Given the description of an element on the screen output the (x, y) to click on. 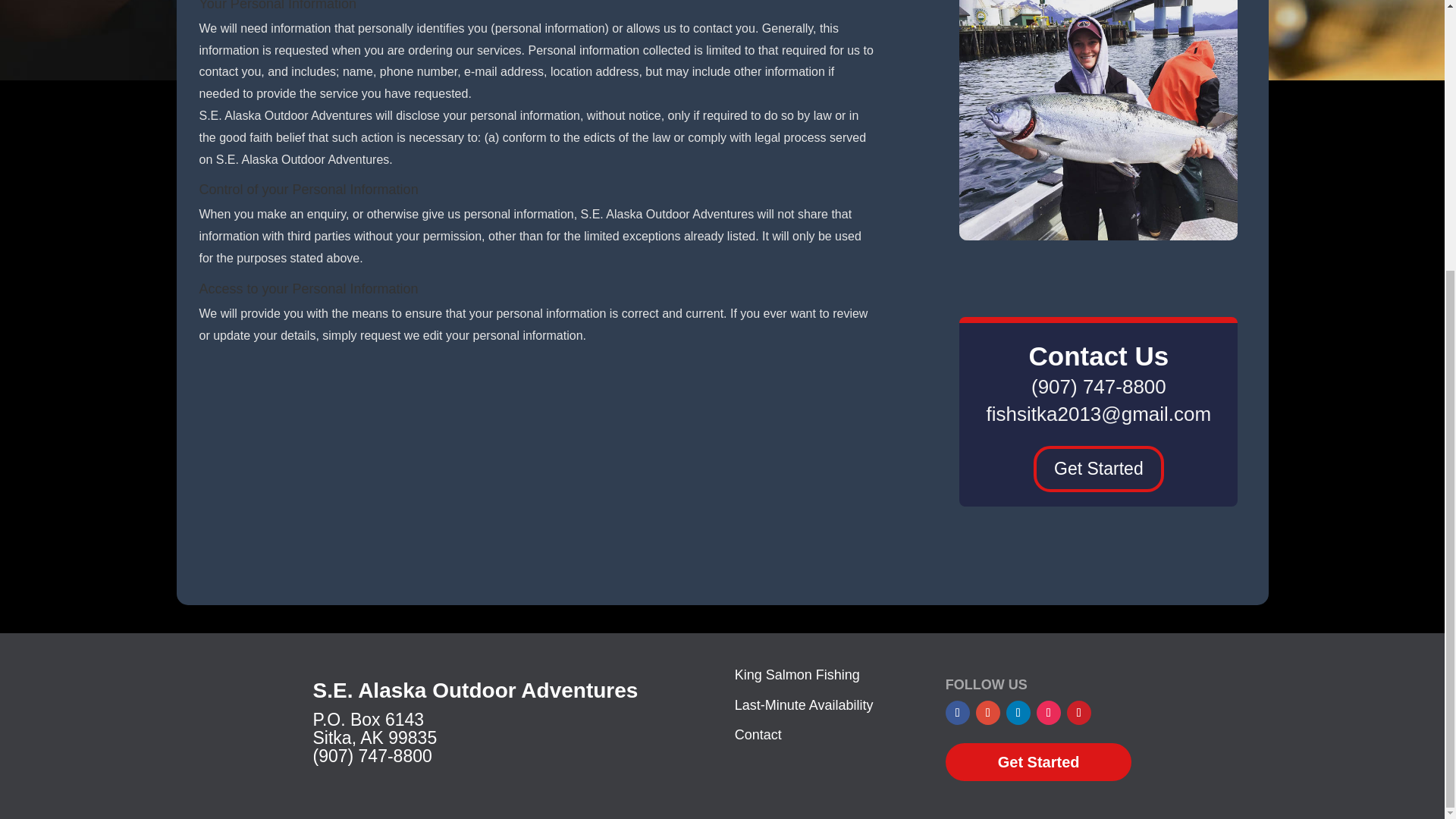
Follow on Facebook (956, 712)
Follow on Pinterest (1078, 712)
Follow on Instagram (1048, 712)
Follow on LinkedIn (1018, 712)
